Given the description of an element on the screen output the (x, y) to click on. 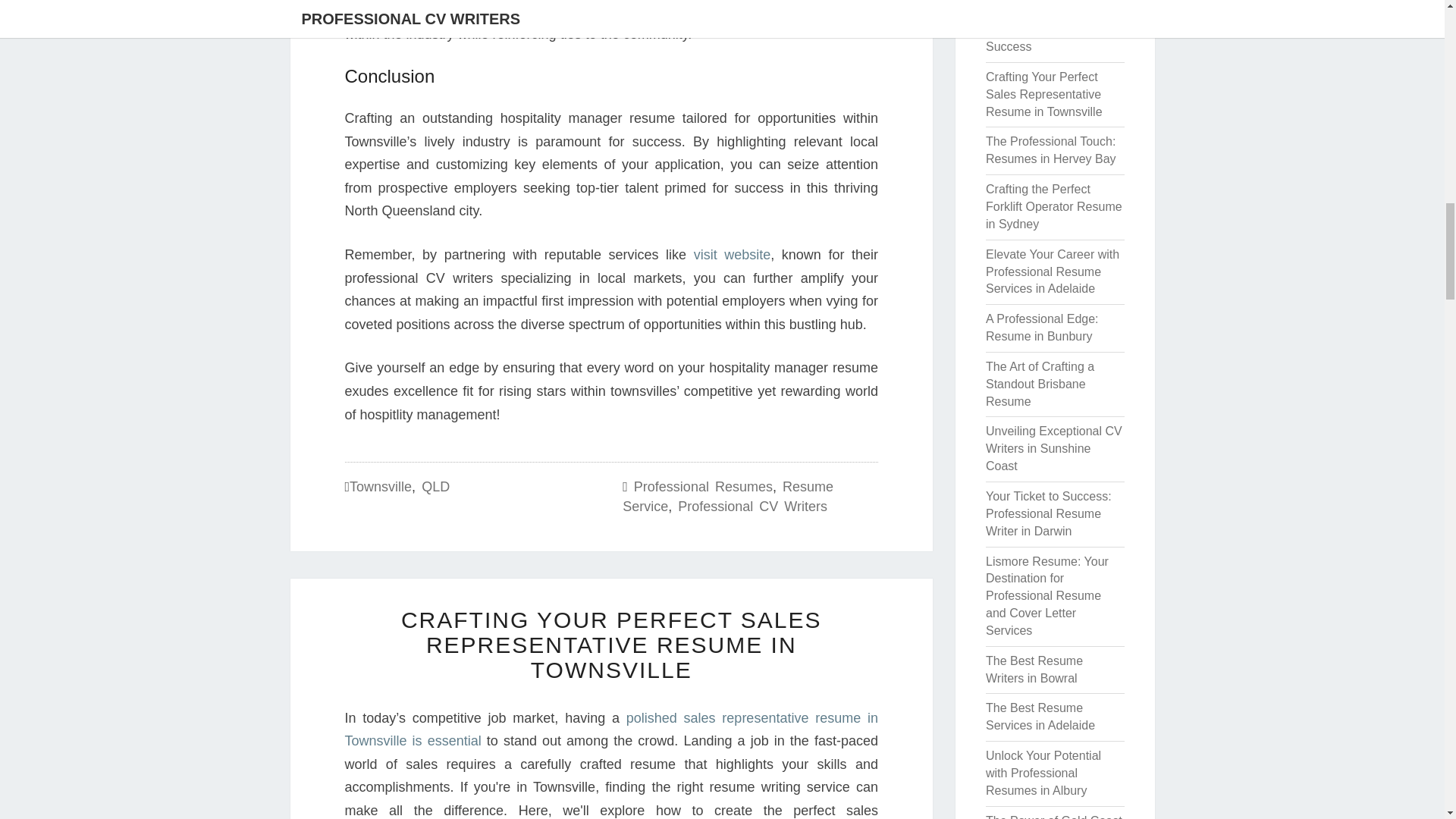
QLD (435, 486)
Professional CV Writers (752, 506)
Resume Service (727, 496)
Professional Resumes (703, 486)
visit website (732, 254)
Townsville (380, 486)
